Given the description of an element on the screen output the (x, y) to click on. 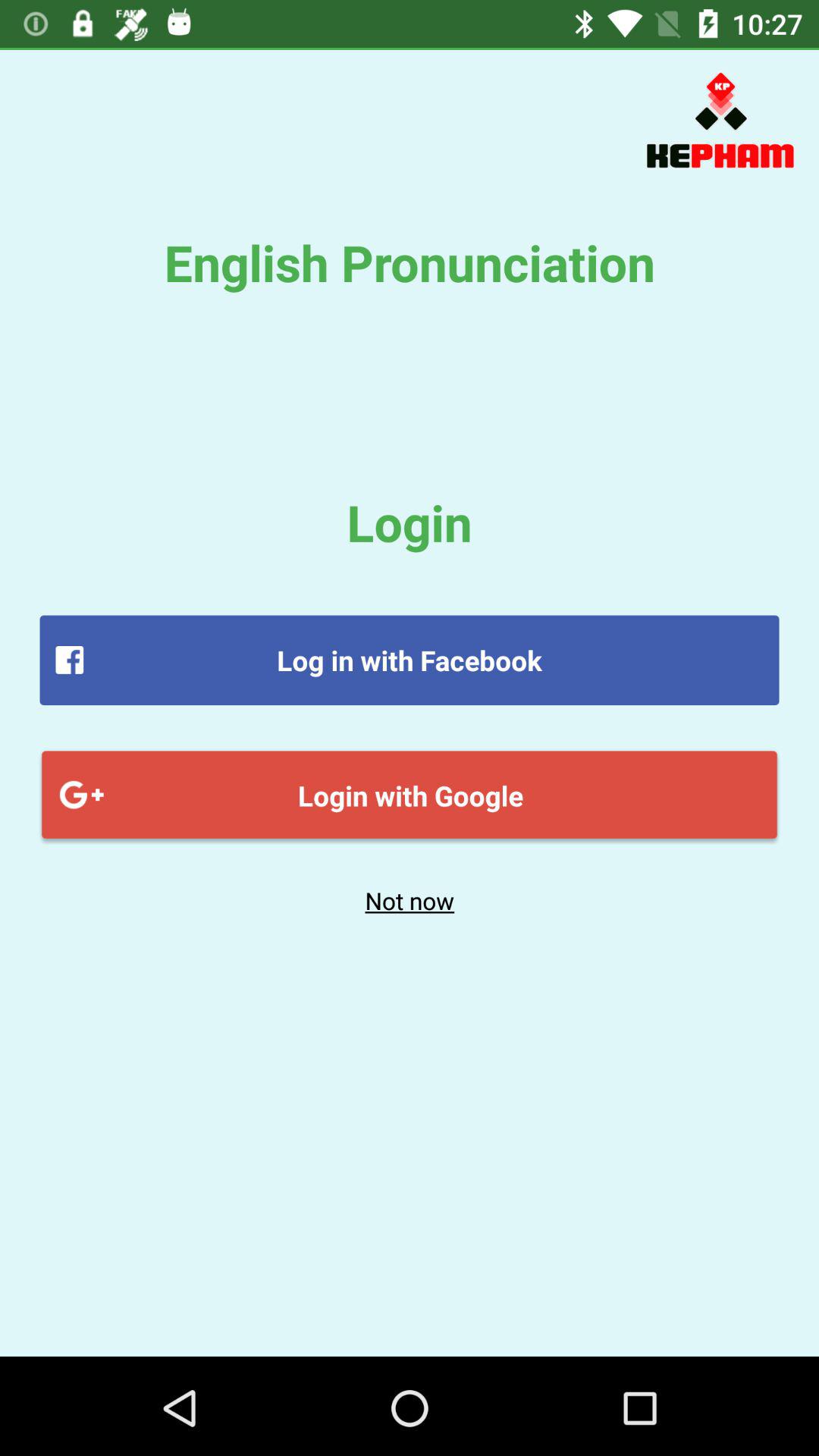
tap the log in with (409, 660)
